Given the description of an element on the screen output the (x, y) to click on. 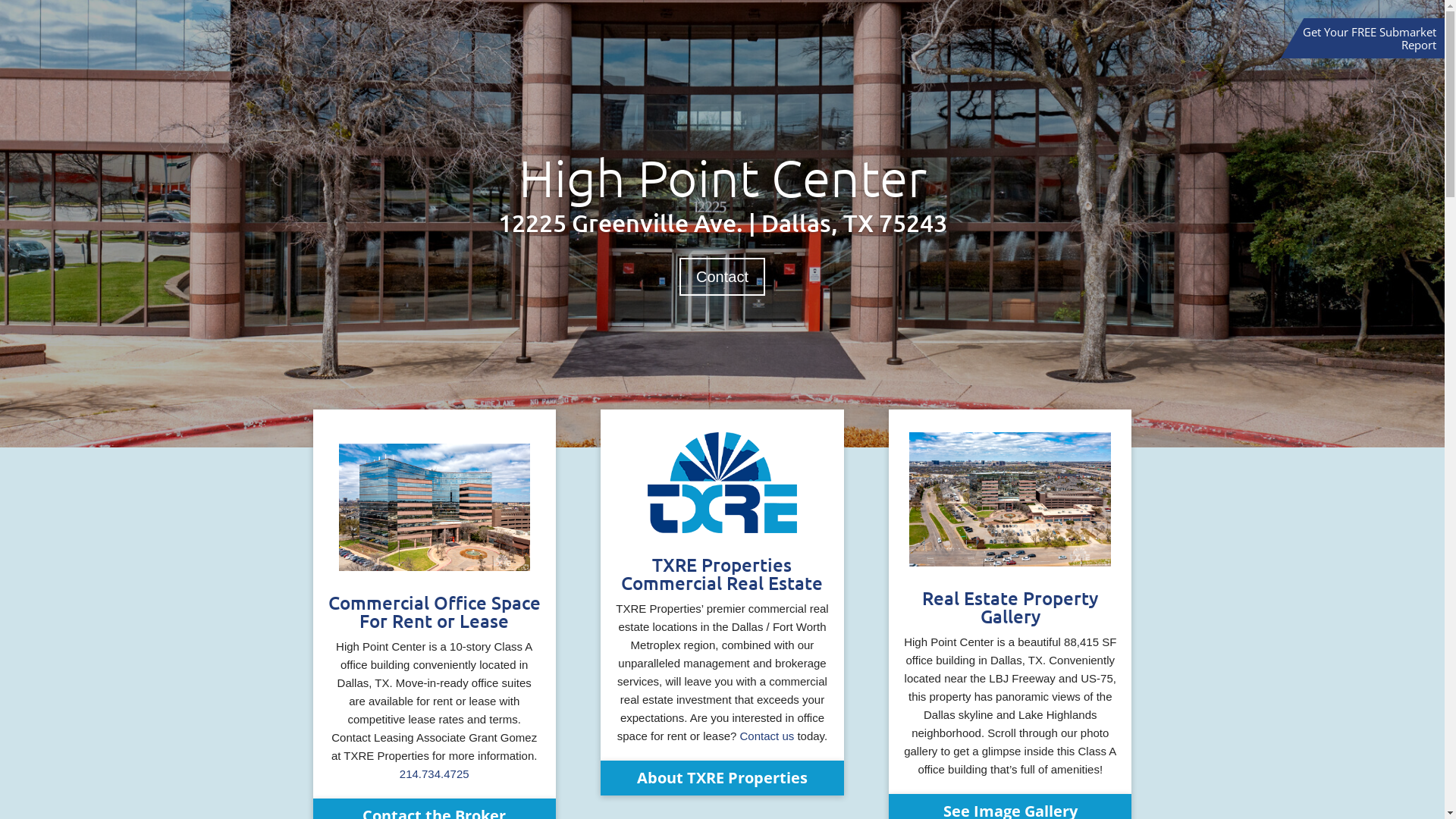
214.734.4725 Element type: text (434, 773)
Contact Element type: text (722, 276)
High Point Center Element type: text (722, 177)
Get Your FREE Submarket Report Element type: text (1369, 38)
Contact us Element type: text (767, 735)
About TXRE Properties Element type: text (721, 777)
